Given the description of an element on the screen output the (x, y) to click on. 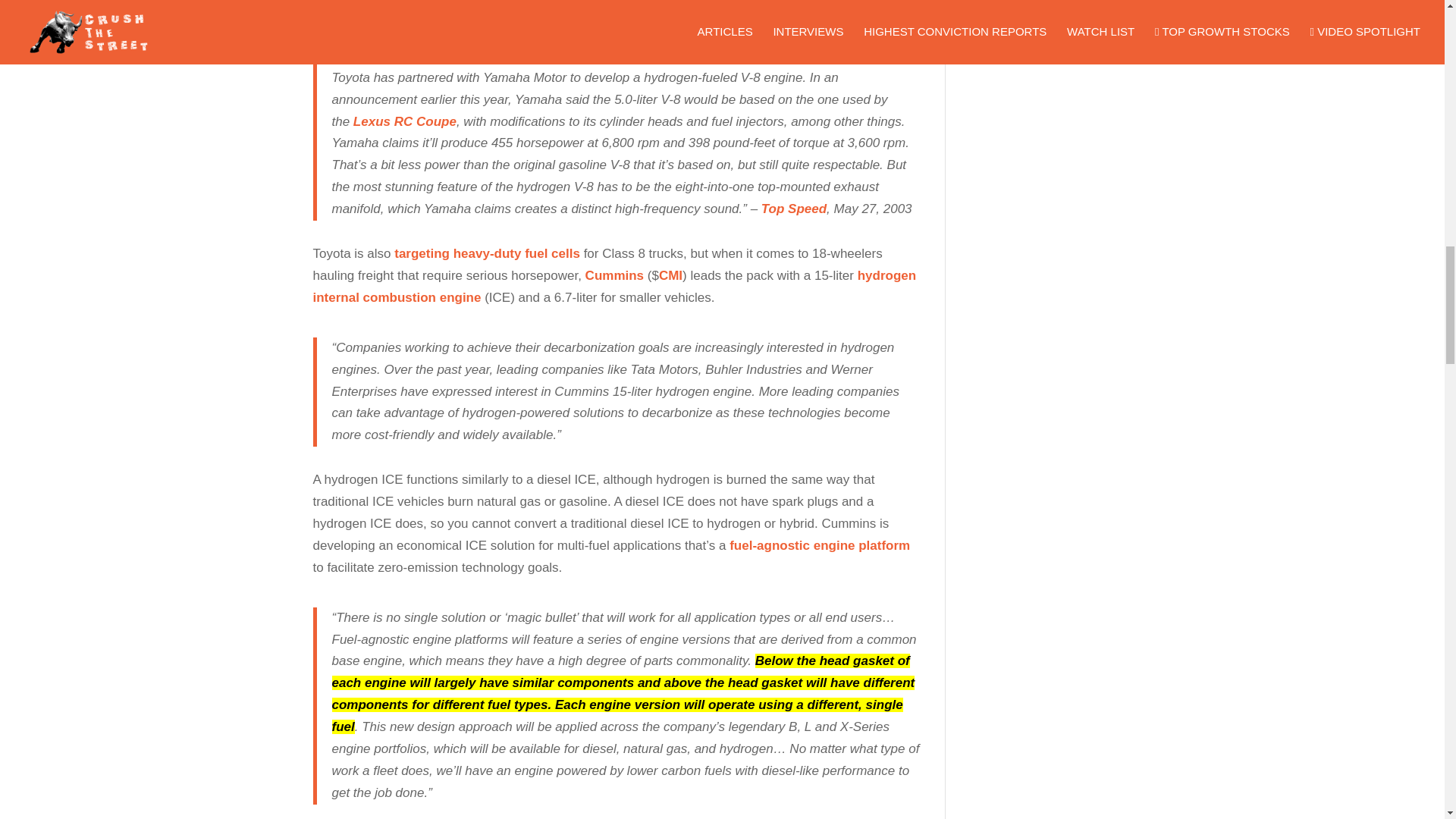
Cummins (614, 275)
CMI (670, 275)
Top Speed (794, 208)
Lexus RC Coupe (405, 121)
targeting heavy-duty fuel cells (486, 253)
fuel-agnostic engine platform (819, 545)
hydrogen internal combustion engine (614, 286)
